Given the description of an element on the screen output the (x, y) to click on. 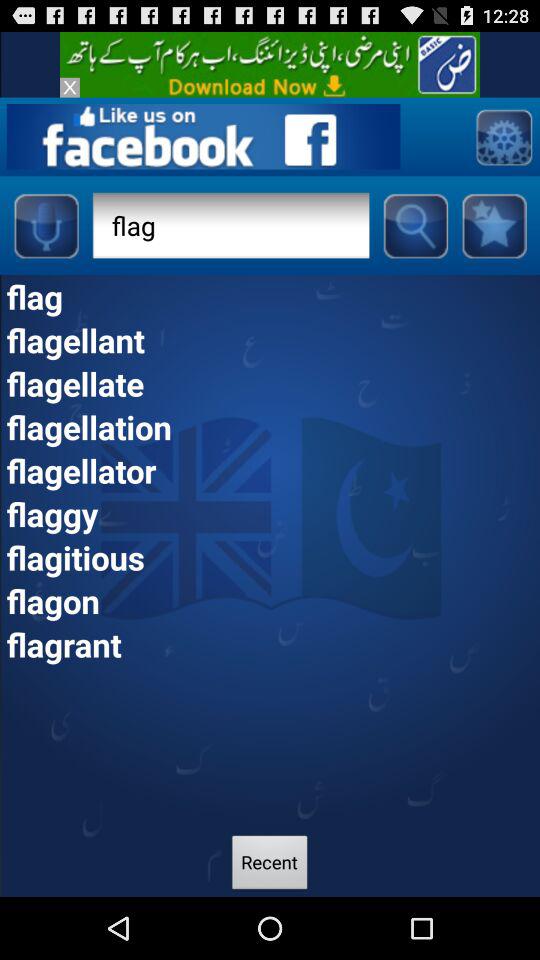
foverite button (493, 225)
